Given the description of an element on the screen output the (x, y) to click on. 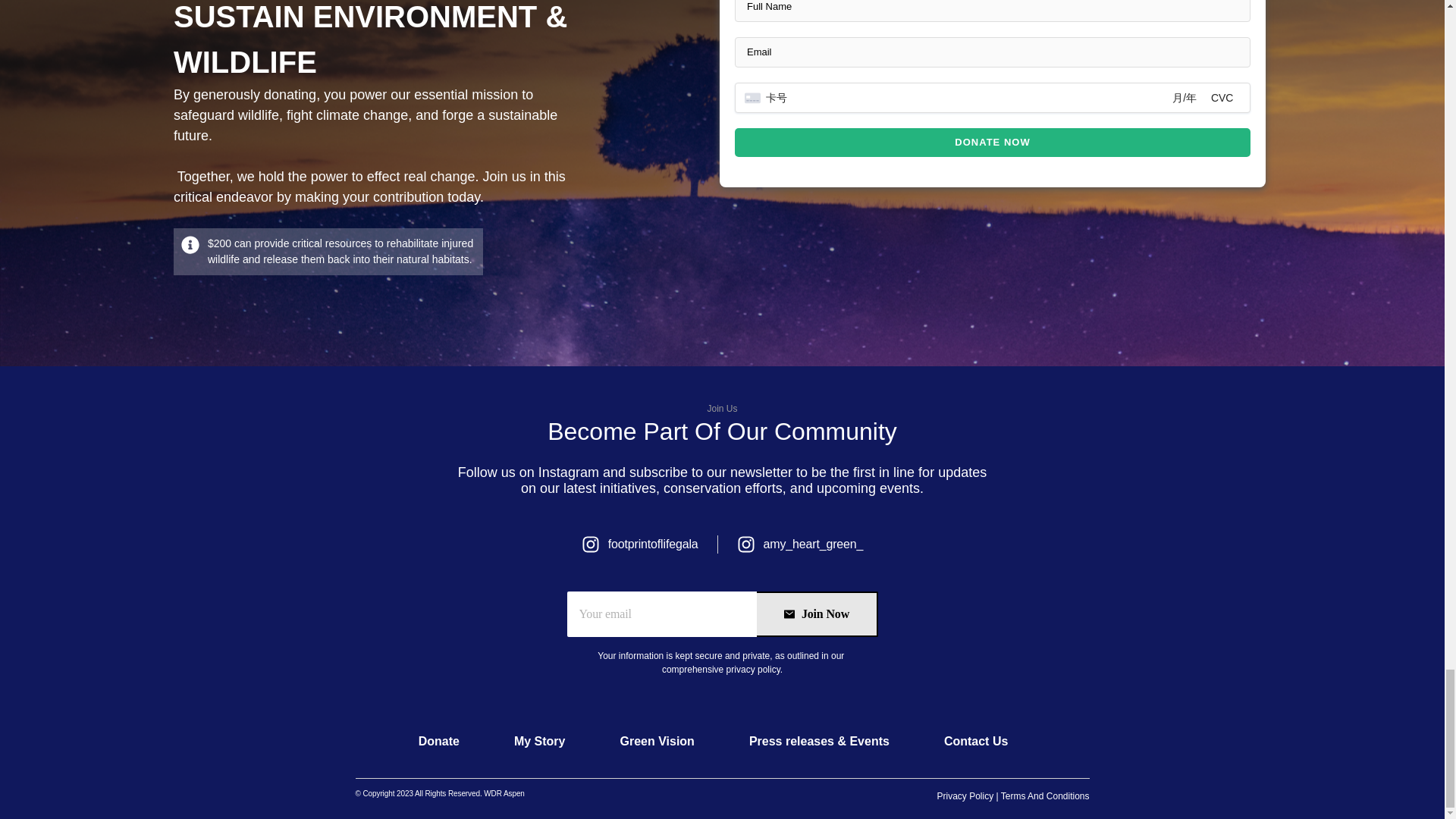
Donate (438, 741)
Join Now (817, 614)
privacy policy (750, 669)
My Story (539, 741)
footprintoflifegala (639, 544)
Contact Us (976, 741)
Green Vision (656, 741)
Privacy Policy (965, 796)
Donate Now (992, 142)
Donate Now (992, 142)
